Given the description of an element on the screen output the (x, y) to click on. 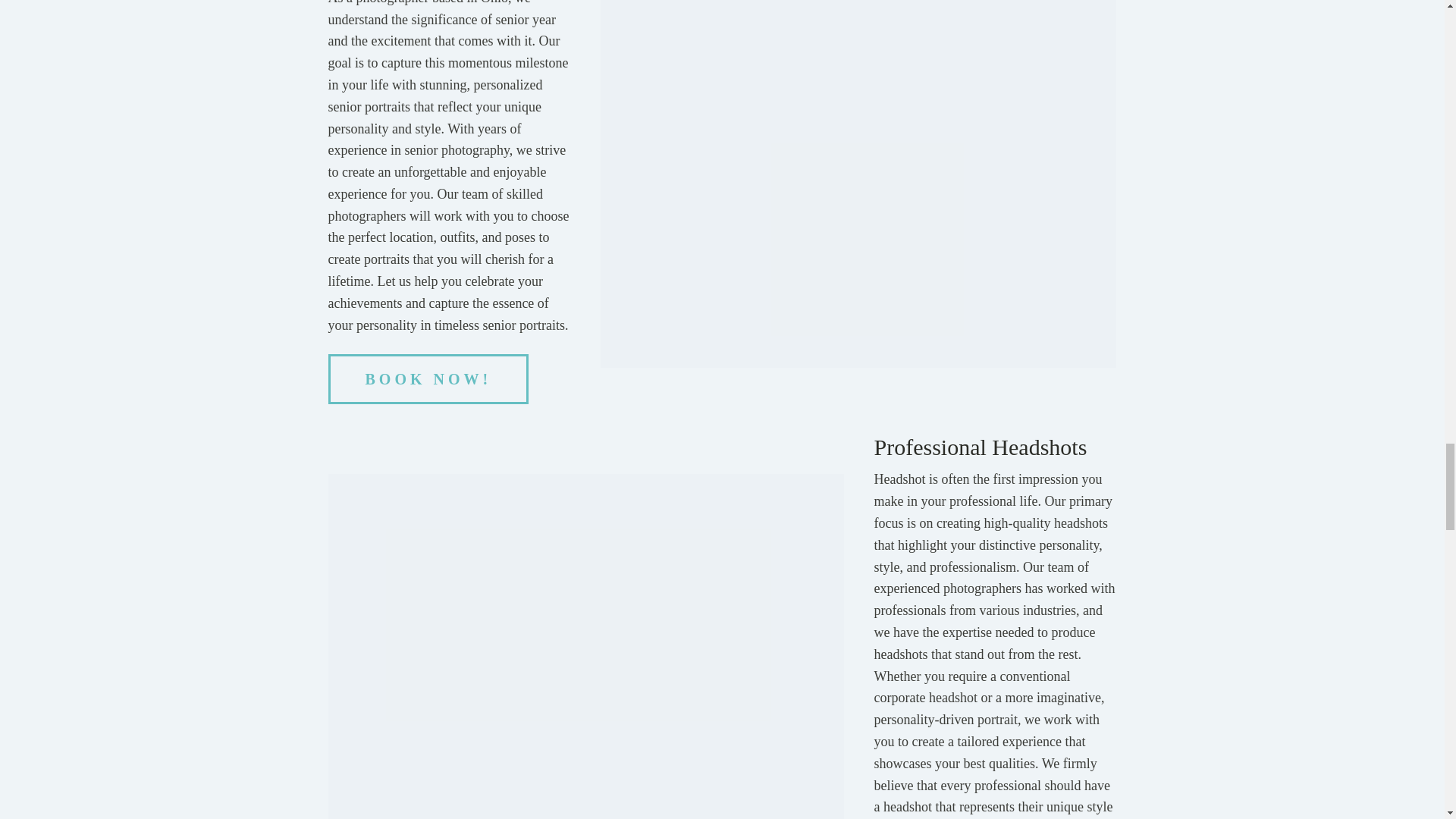
BOOK NOW! (427, 378)
